Given the description of an element on the screen output the (x, y) to click on. 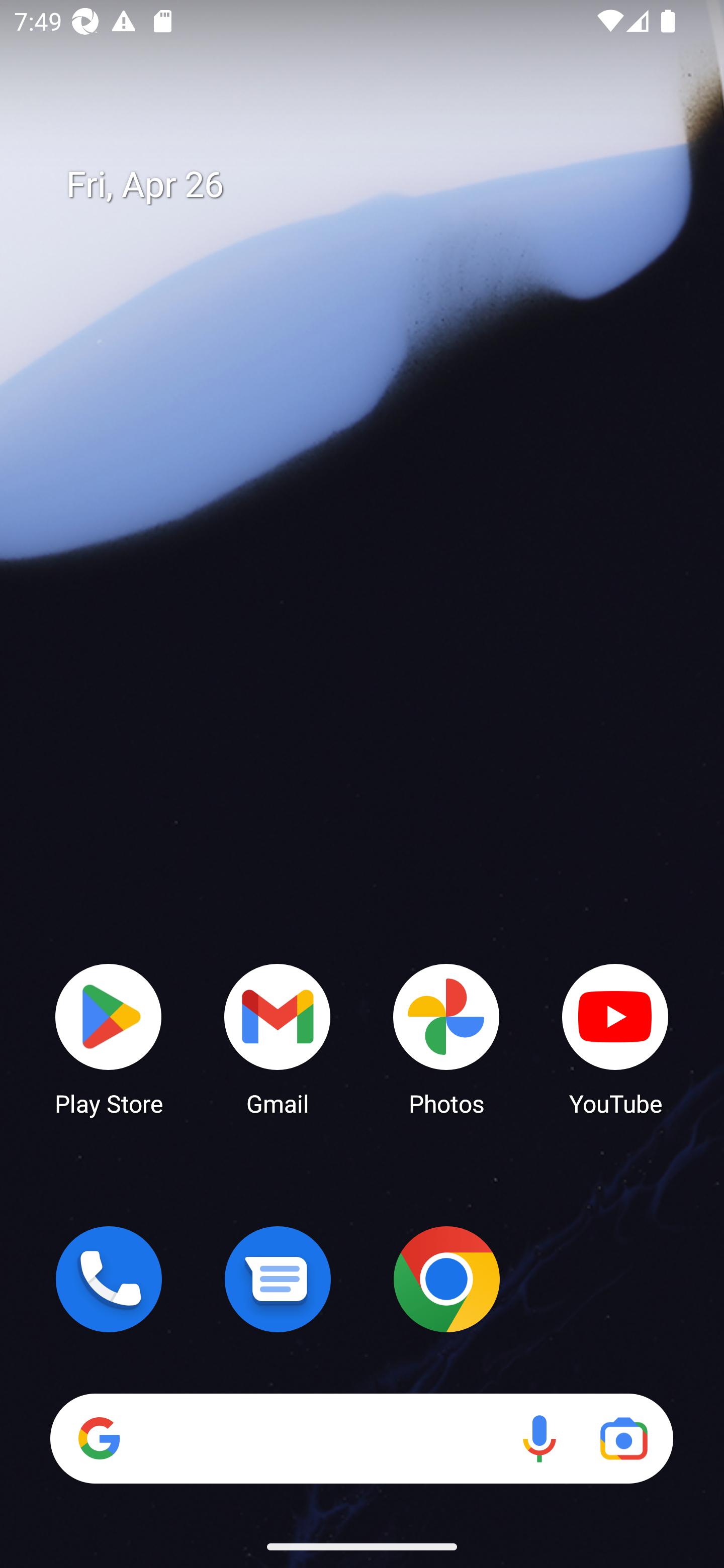
Fri, Apr 26 (375, 184)
Play Store (108, 1038)
Gmail (277, 1038)
Photos (445, 1038)
YouTube (615, 1038)
Phone (108, 1279)
Messages (277, 1279)
Chrome (446, 1279)
Search Voice search Google Lens (361, 1438)
Voice search (539, 1438)
Google Lens (623, 1438)
